Given the description of an element on the screen output the (x, y) to click on. 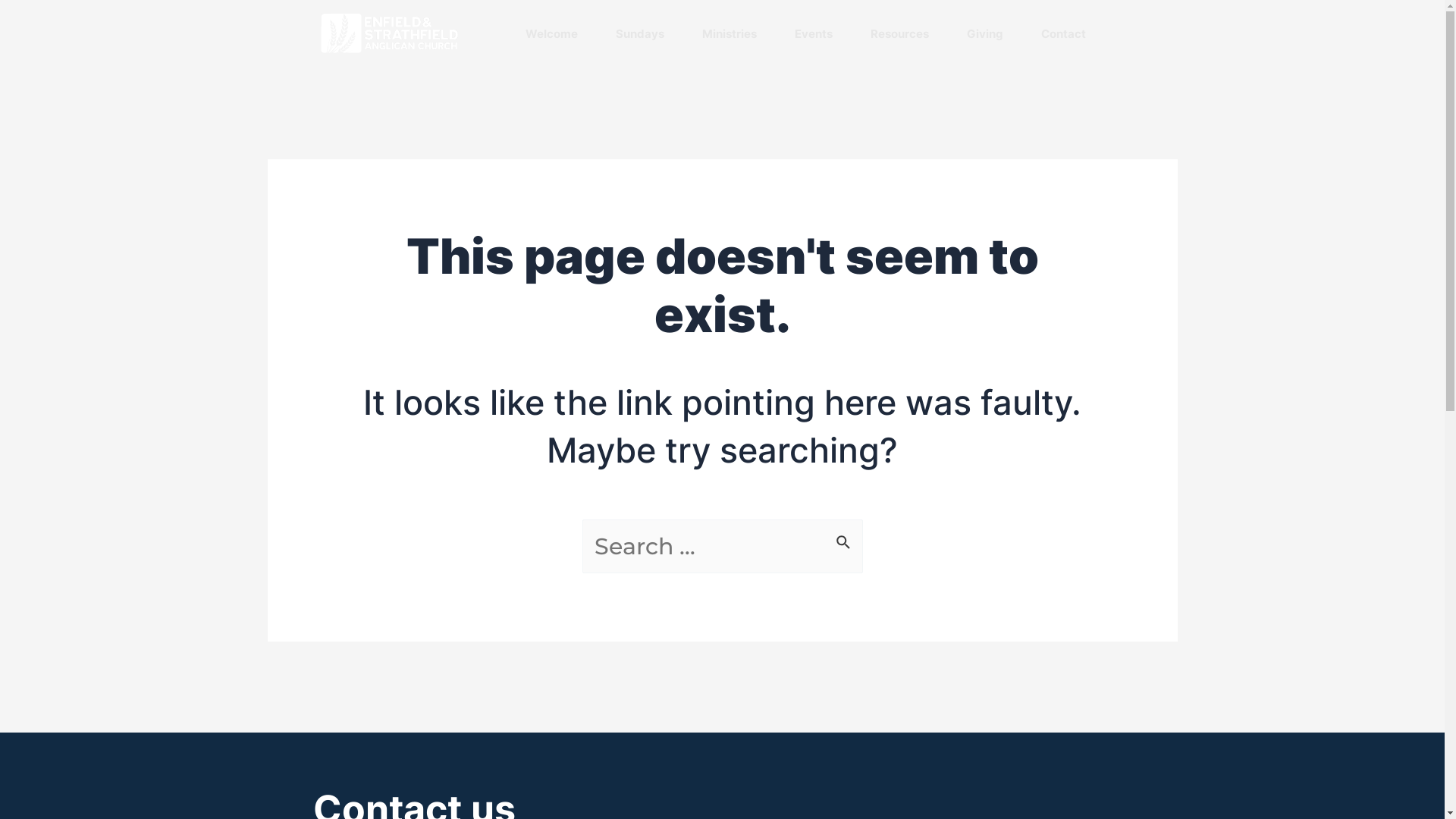
Contact Element type: text (1062, 33)
Search Element type: text (845, 536)
Welcome Element type: text (550, 33)
Resources Element type: text (899, 33)
Events Element type: text (813, 33)
Giving Element type: text (984, 33)
Ministries Element type: text (729, 33)
Sundays Element type: text (639, 33)
